Given the description of an element on the screen output the (x, y) to click on. 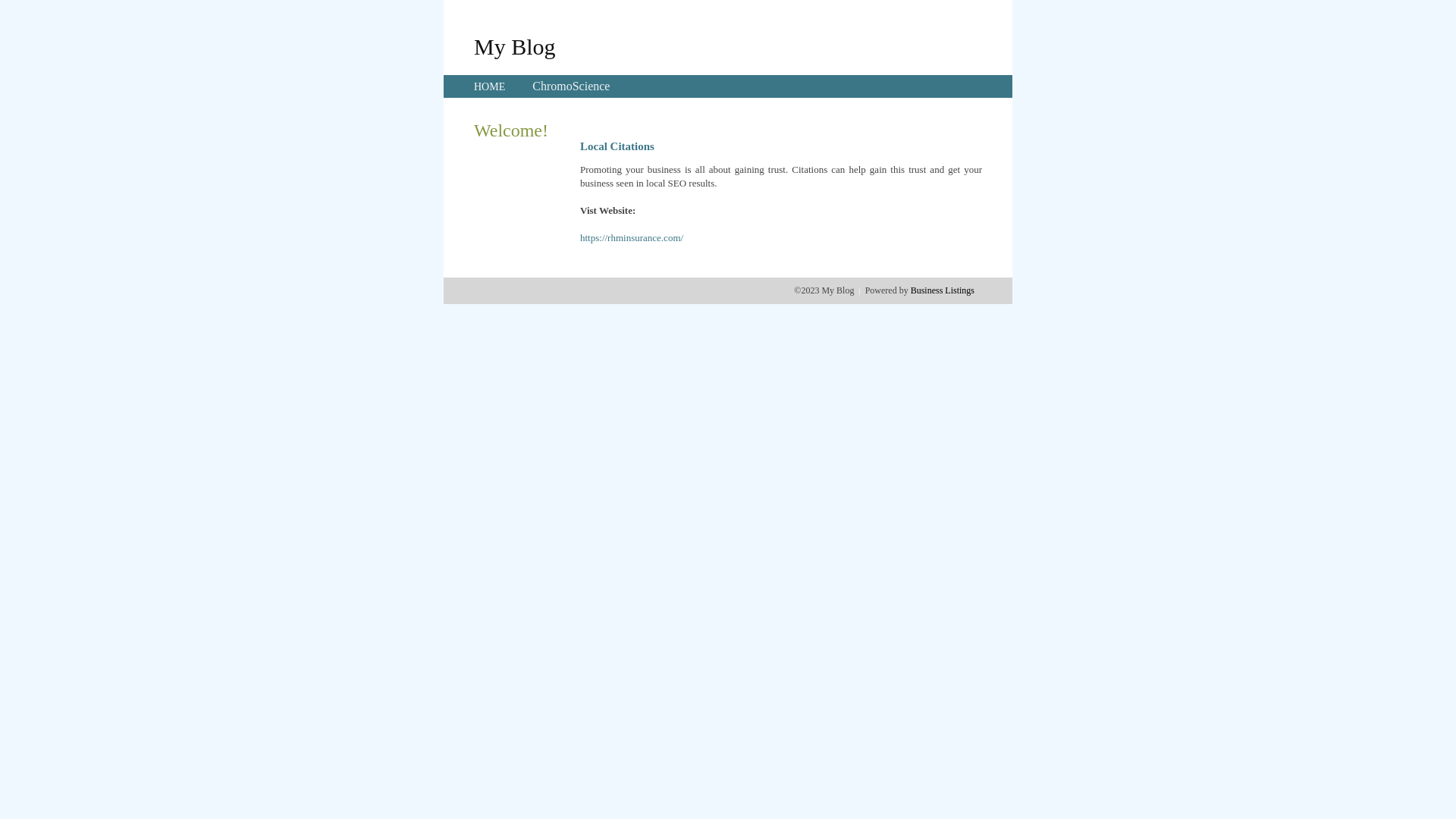
https://rhminsurance.com/ Element type: text (631, 237)
My Blog Element type: text (514, 46)
HOME Element type: text (489, 86)
ChromoScience Element type: text (570, 85)
Business Listings Element type: text (942, 290)
